Given the description of an element on the screen output the (x, y) to click on. 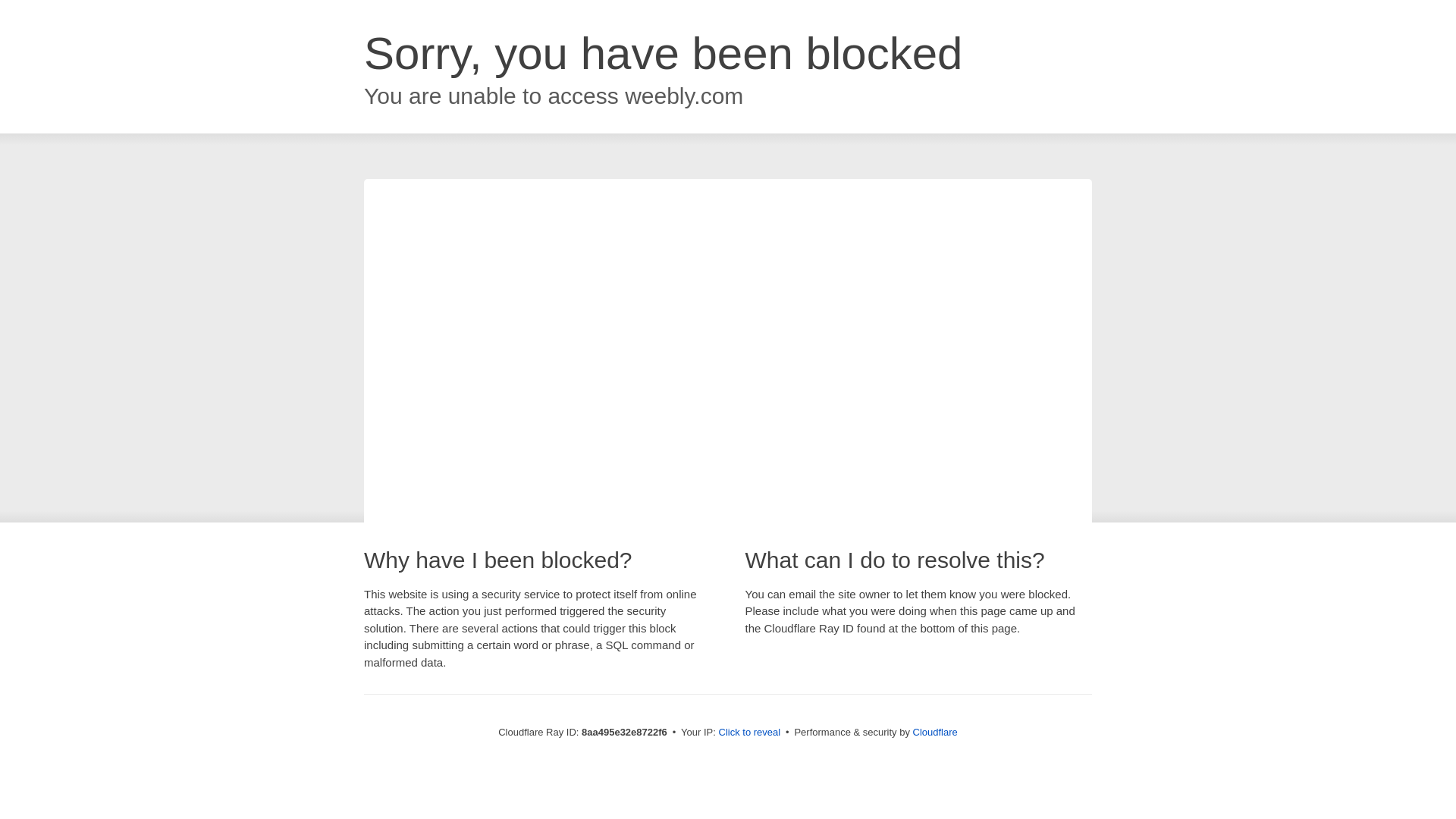
Click to reveal (749, 732)
Cloudflare (935, 731)
